Given the description of an element on the screen output the (x, y) to click on. 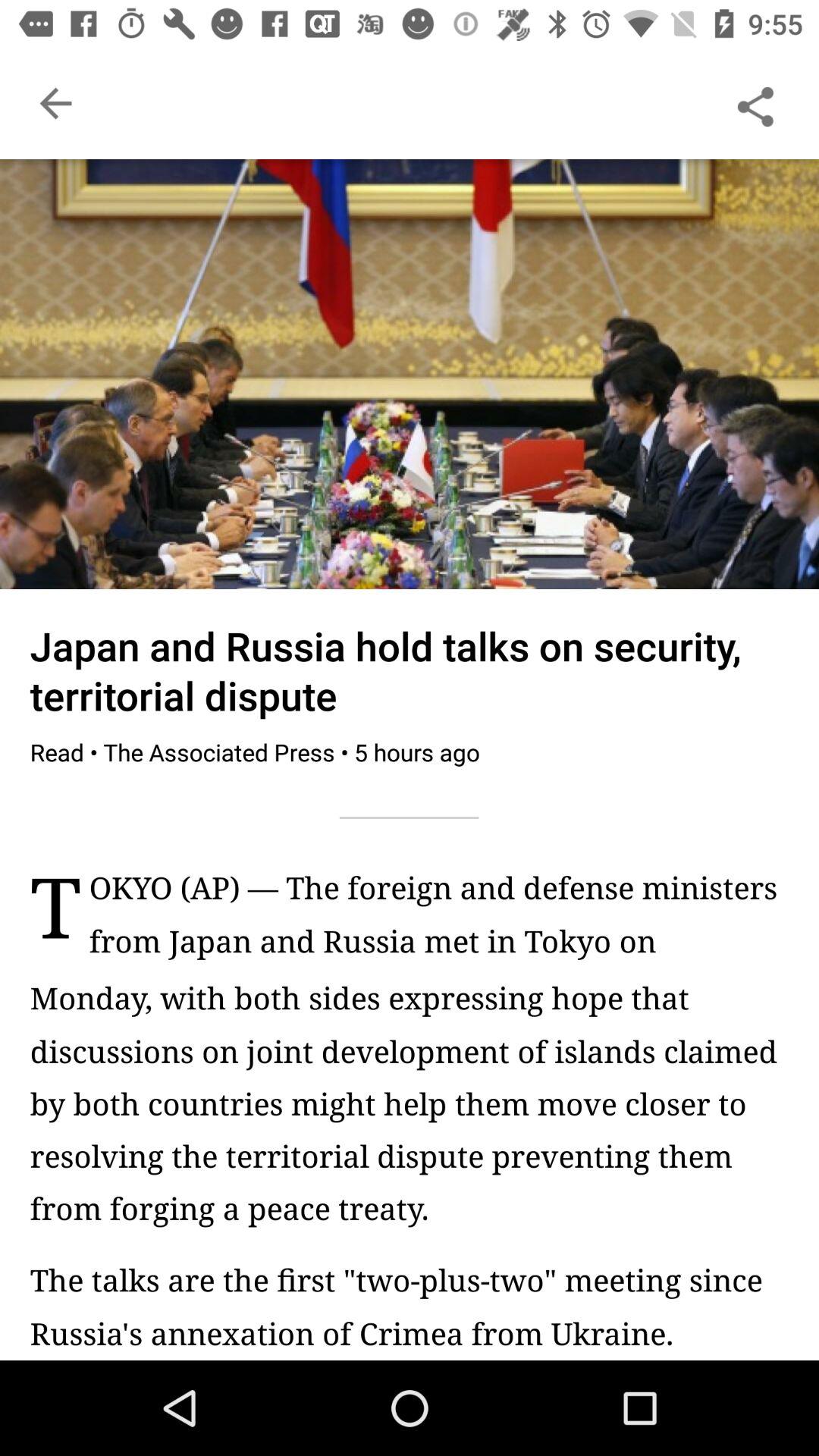
swipe until the the talks are item (409, 1306)
